Given the description of an element on the screen output the (x, y) to click on. 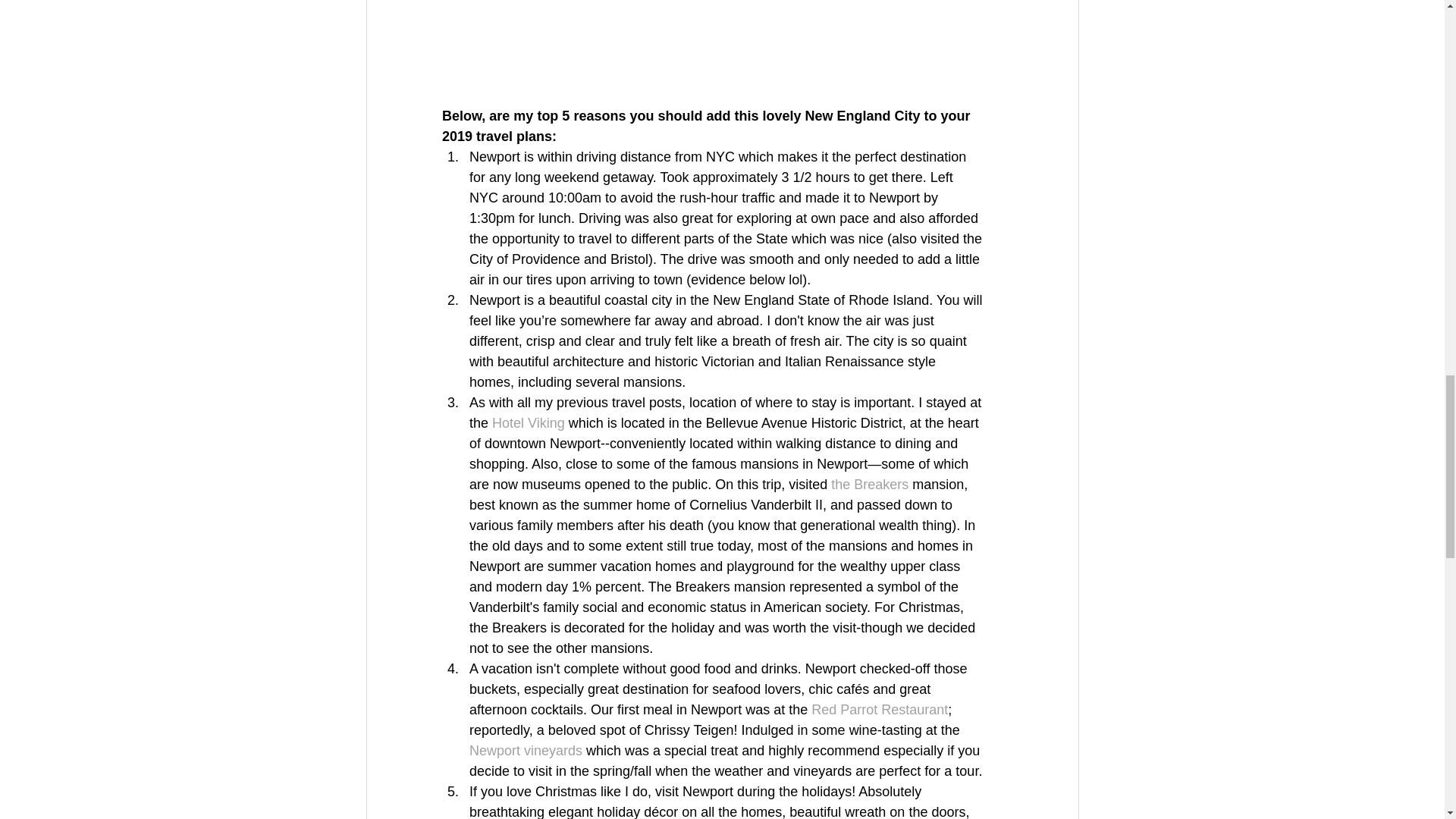
Hotel Viking  (530, 422)
the Breakers (869, 484)
Newport vineyards (524, 750)
Red Parrot Restaurant (878, 709)
